Given the description of an element on the screen output the (x, y) to click on. 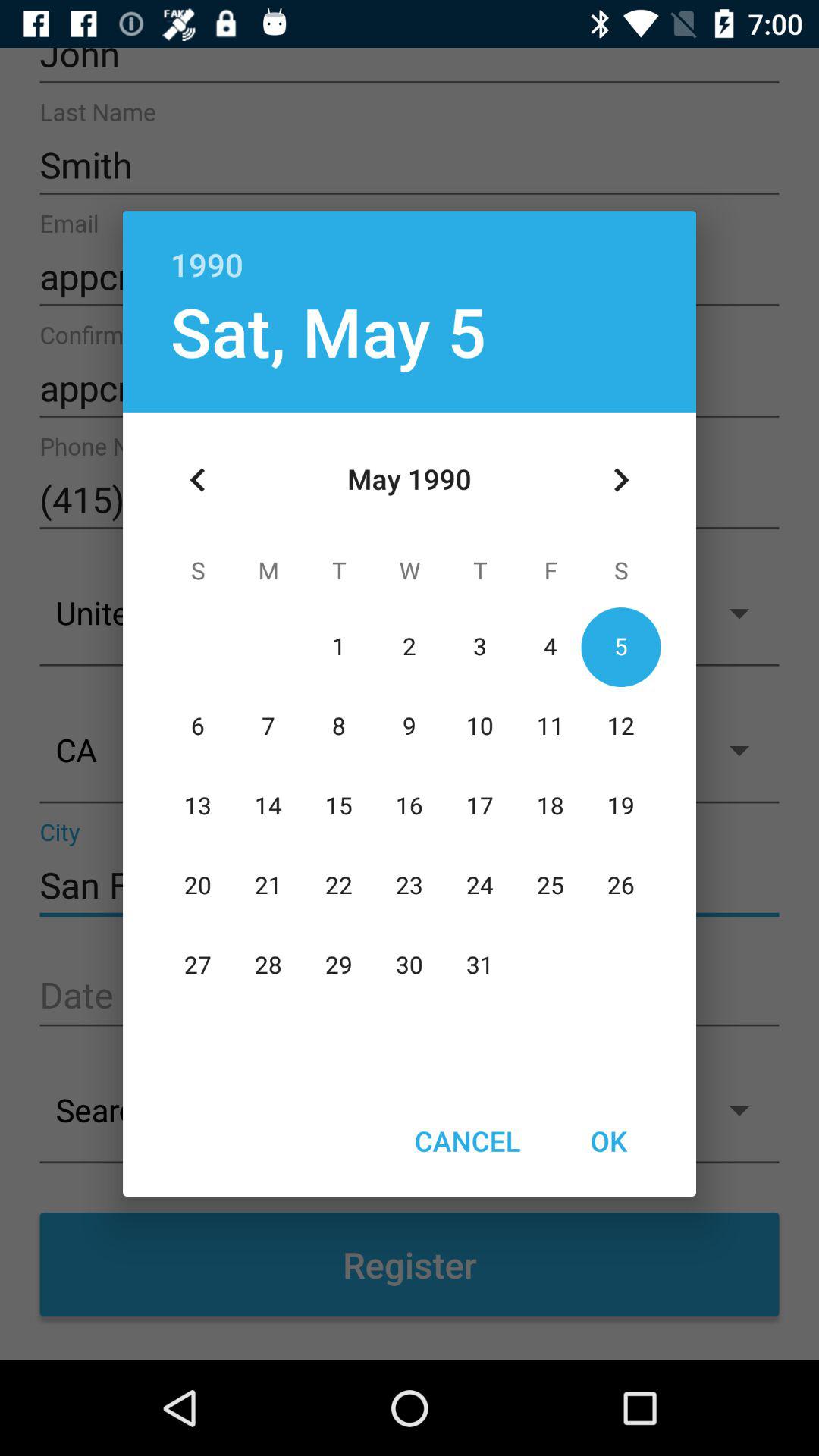
press sat, may 5 icon (328, 331)
